Given the description of an element on the screen output the (x, y) to click on. 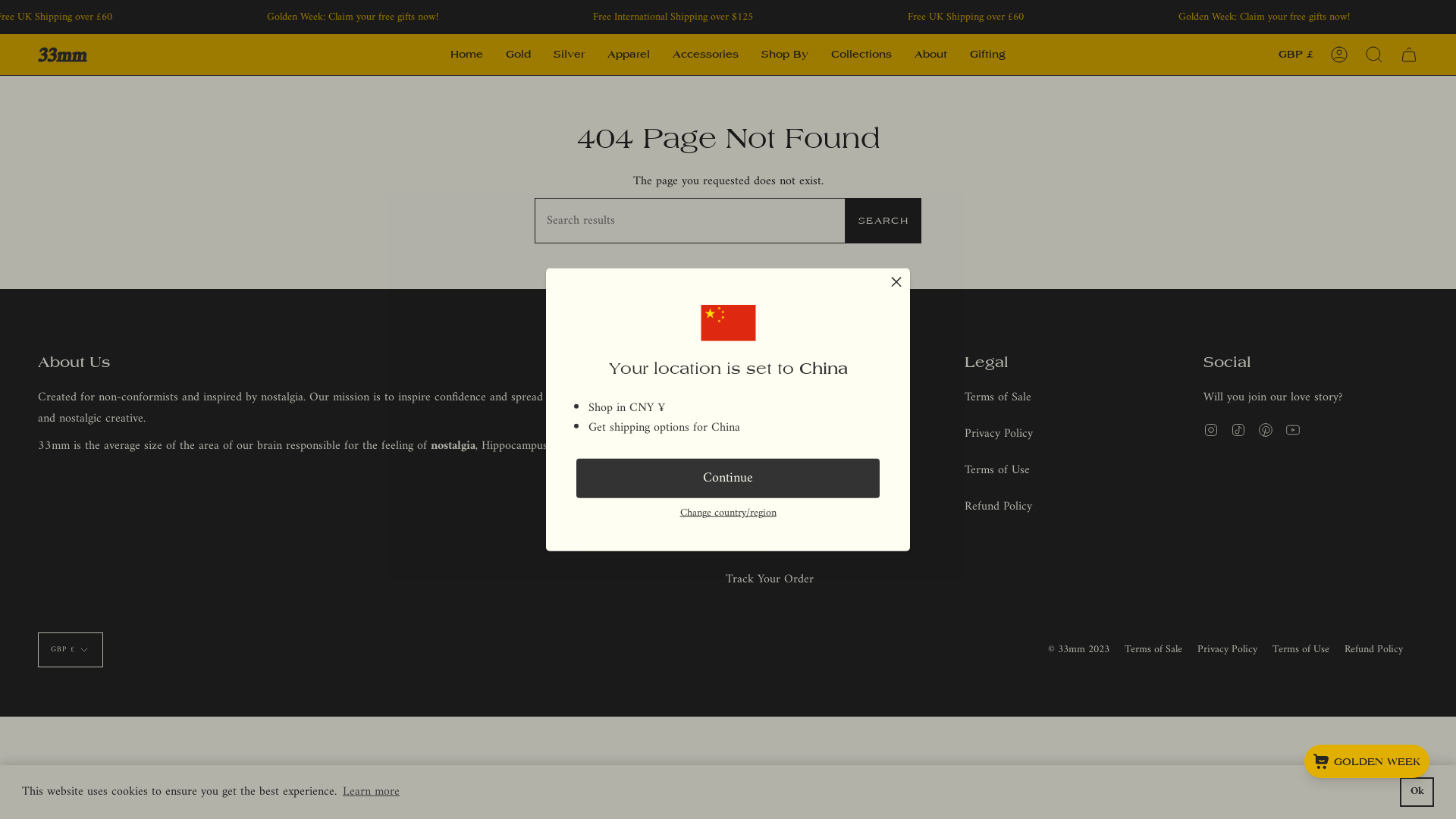
Continue Element type: text (727, 478)
About Us Element type: text (748, 396)
Privacy Policy Element type: text (998, 433)
Silver Element type: text (569, 54)
Accessories Element type: text (705, 54)
Ok Element type: text (1416, 791)
Cart Element type: text (1408, 54)
Materials & Care Element type: text (767, 506)
About Element type: text (930, 54)
Terms of Use Element type: text (1300, 649)
Shipping & Returns Element type: text (773, 433)
YouTube Element type: text (1292, 429)
Collections Element type: text (861, 54)
Pinterest Element type: text (1265, 429)
TikTok Element type: text (1237, 429)
FAQs Element type: text (738, 469)
Learn more Element type: text (370, 791)
Home Element type: text (466, 54)
Gifting Element type: text (987, 54)
Terms of Sale Element type: text (997, 396)
Privacy Policy Element type: text (1227, 649)
Change country/region Element type: text (727, 512)
Account Element type: text (1338, 54)
Gold Element type: text (518, 54)
Terms of Use Element type: text (996, 469)
Shop By Element type: text (784, 54)
Refund Policy Element type: text (998, 506)
Terms of Sale Element type: text (1153, 649)
Instagram Element type: text (1210, 429)
Apparel Element type: text (628, 54)
Refund Policy Element type: text (1373, 649)
SEARCH Element type: text (883, 220)
Contact Us Element type: text (753, 542)
Track Your Order Element type: text (769, 578)
